Given the description of an element on the screen output the (x, y) to click on. 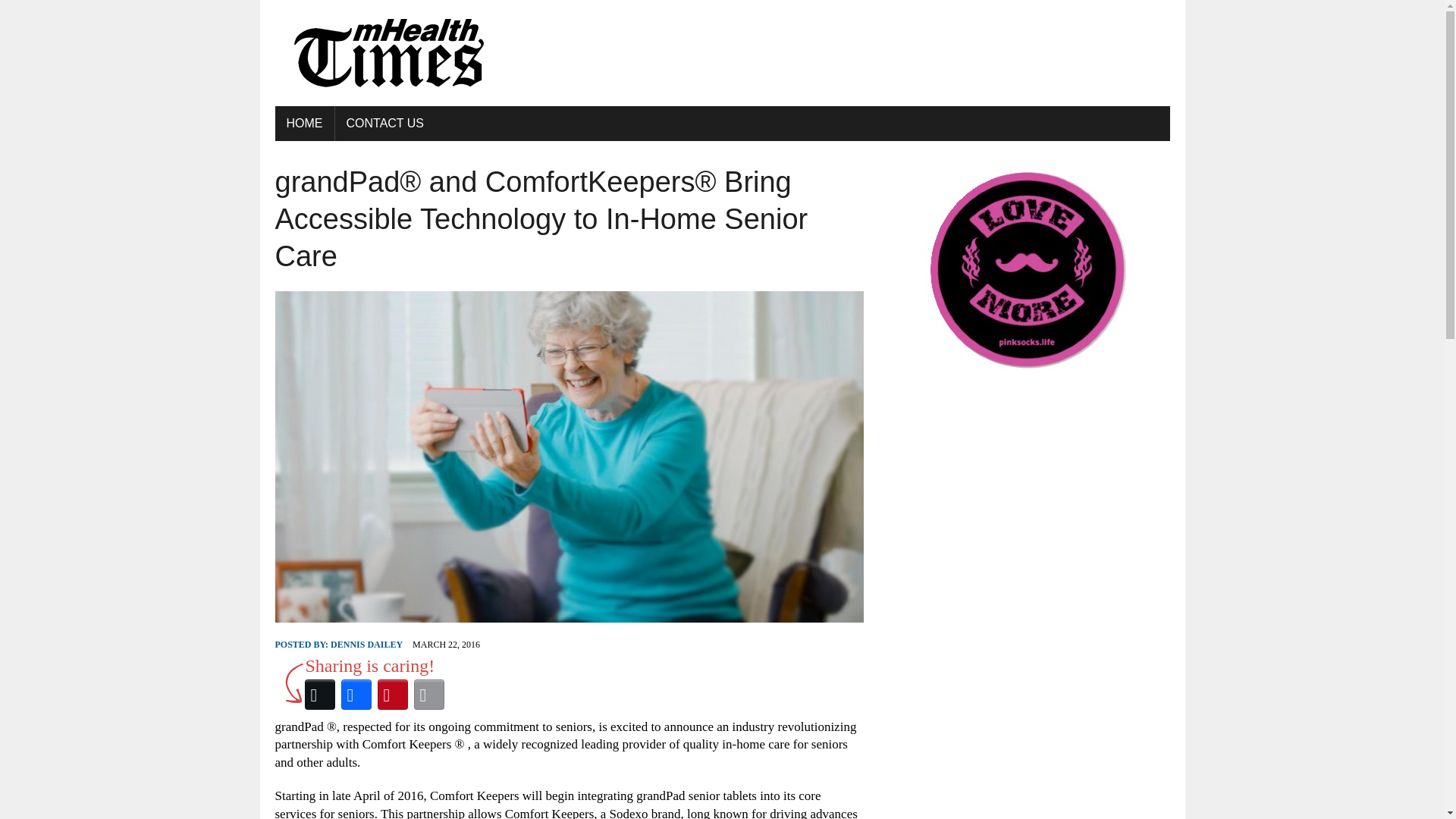
Facebook (355, 694)
Pinterest (392, 694)
Email This (428, 694)
DENNIS DAILEY (366, 644)
CONTACT US (384, 123)
Mobile Health Times (722, 52)
HOME (304, 123)
